Given the description of an element on the screen output the (x, y) to click on. 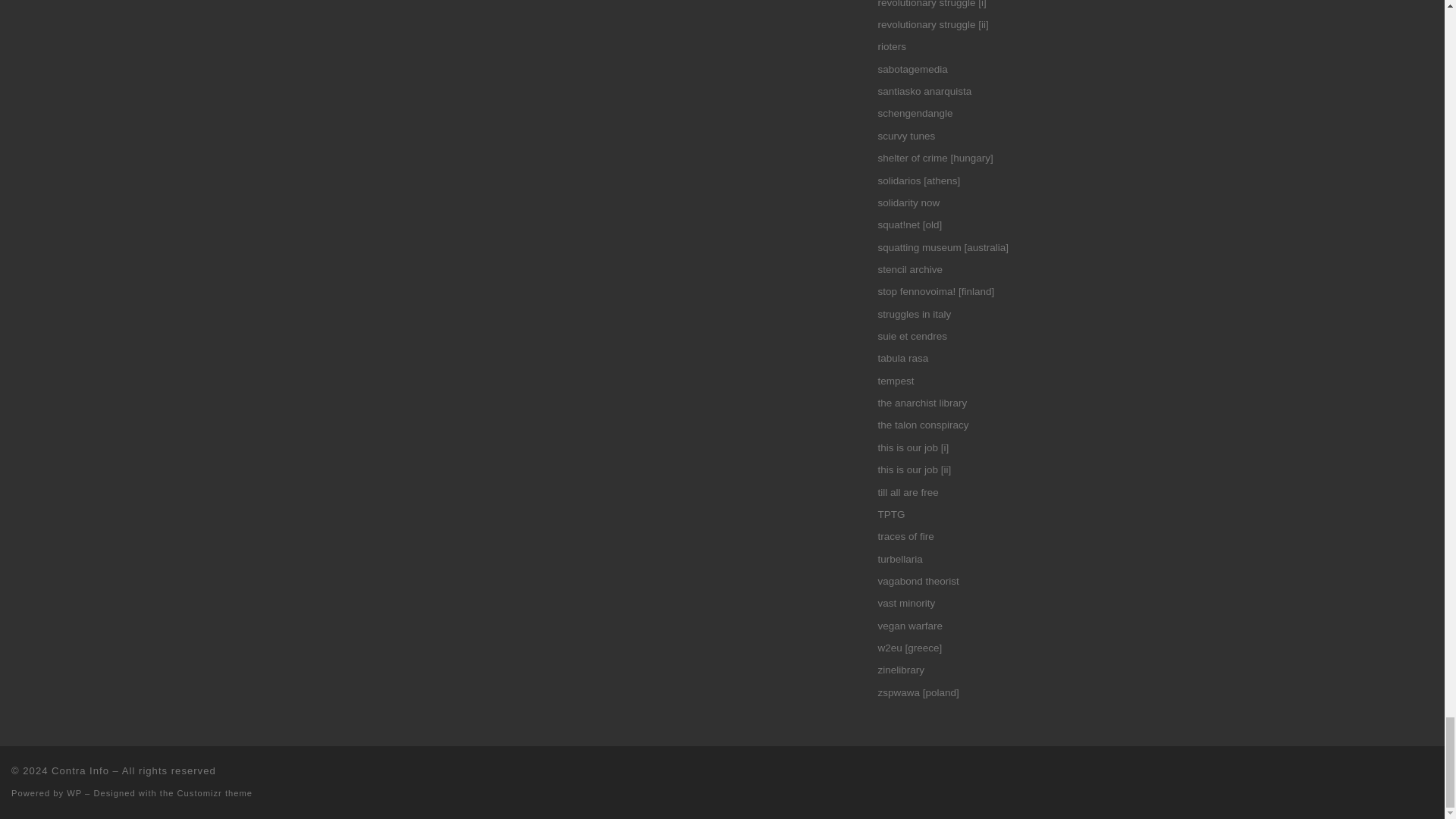
Customizr theme (215, 792)
Contra Info (79, 770)
Powered by WordPress (73, 792)
